Given the description of an element on the screen output the (x, y) to click on. 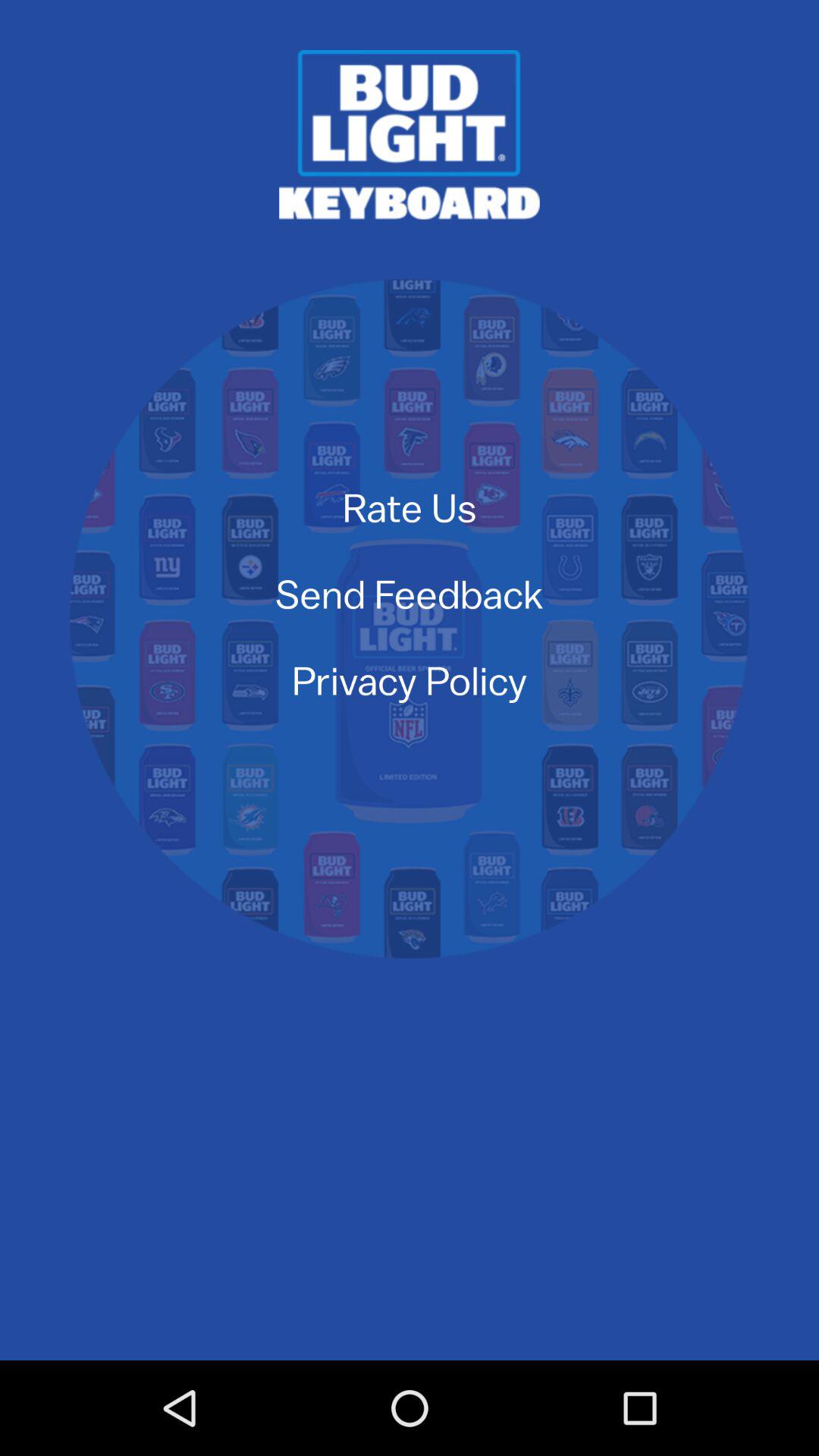
click the item above the privacy policy item (409, 593)
